Given the description of an element on the screen output the (x, y) to click on. 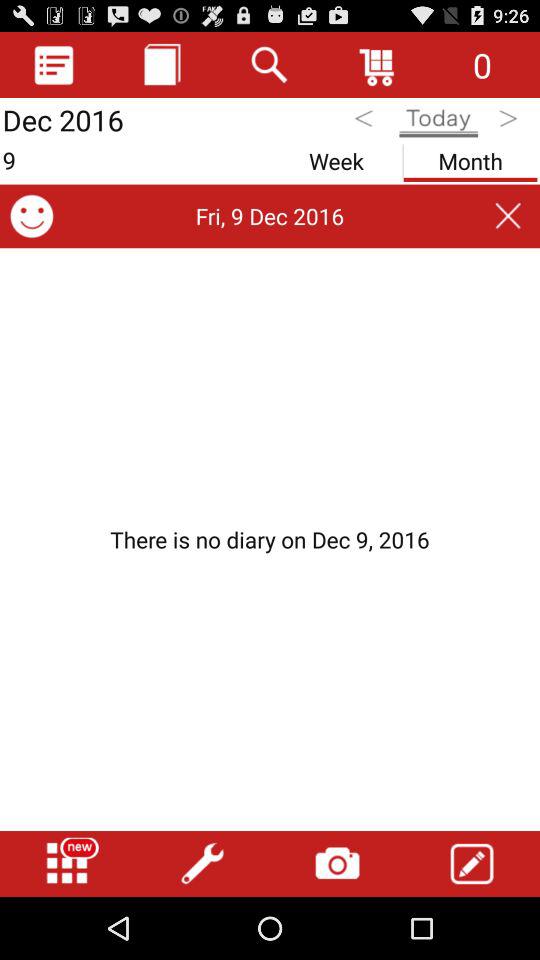
launch app to the right of dec 2016 item (161, 64)
